Given the description of an element on the screen output the (x, y) to click on. 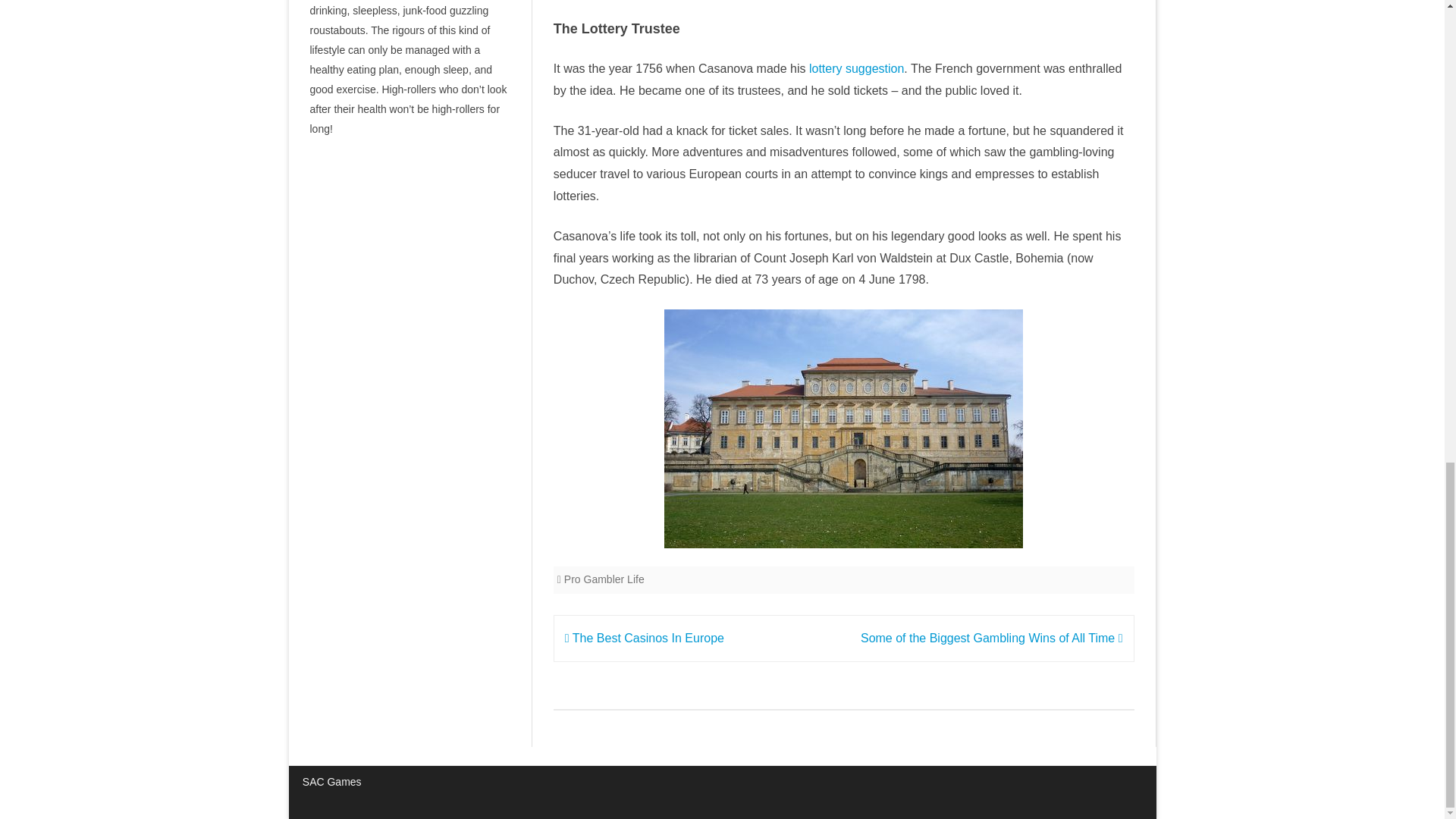
lottery suggestion (856, 68)
The Best Casinos In Europe (643, 637)
Pro Gambler Life (604, 579)
Some of the Biggest Gambling Wins of All Time (991, 637)
